Given the description of an element on the screen output the (x, y) to click on. 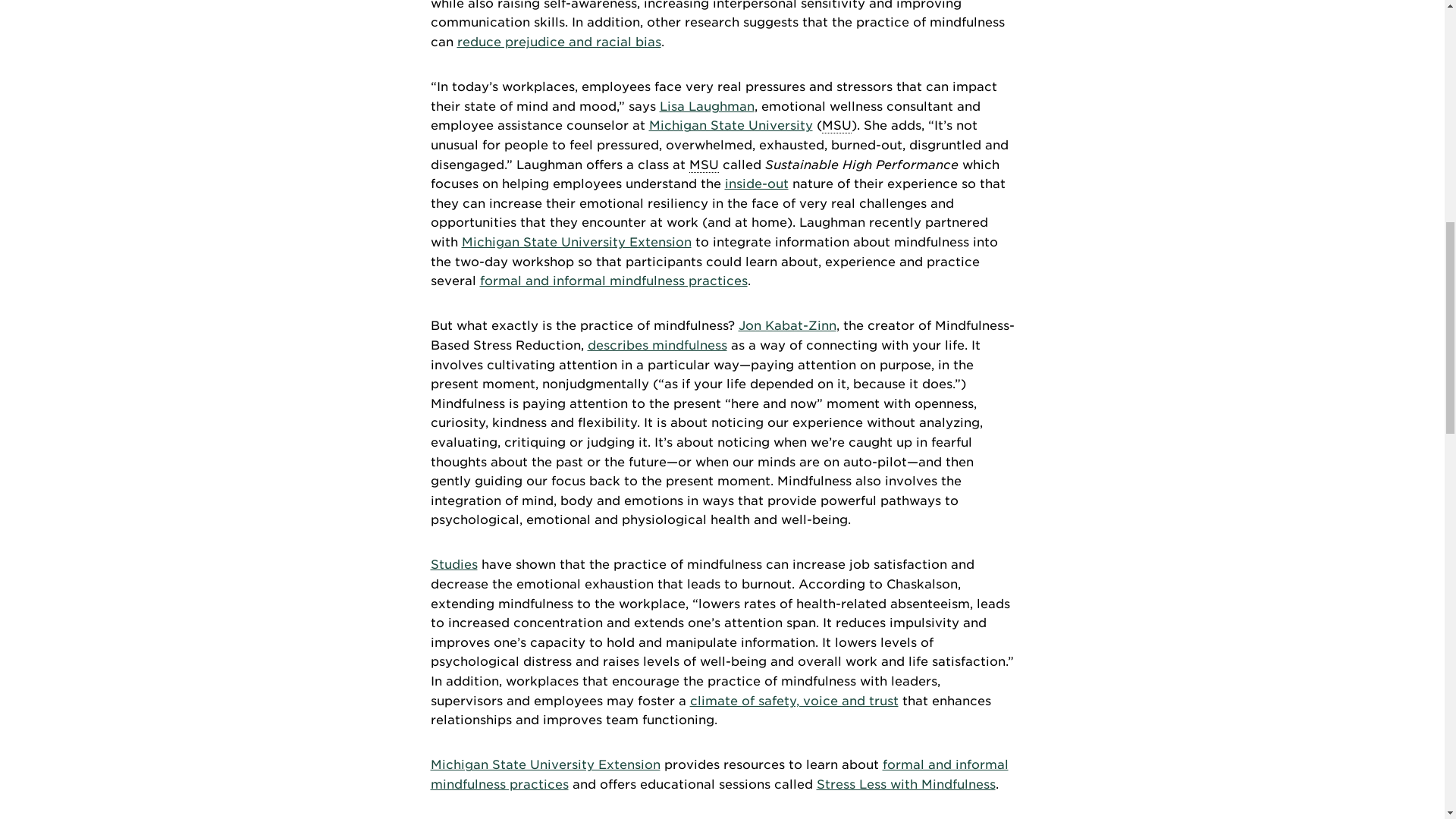
Michigan State University (730, 124)
Michigan State University (702, 165)
Stress Less with Mindfulness (904, 784)
Michigan State University (836, 125)
Michigan State University Extension (545, 764)
formal and informal mindfulness practices (719, 774)
Lisa Laughman (706, 106)
formal and informal mindfulness practices (612, 280)
describes mindfulness (656, 345)
reduce prejudice and racial bias (559, 42)
Jon Kabat-Zinn (786, 325)
Michigan State University Extension (575, 242)
inside-out (757, 183)
Studies (453, 564)
climate of safety, voice and trust (794, 700)
